Given the description of an element on the screen output the (x, y) to click on. 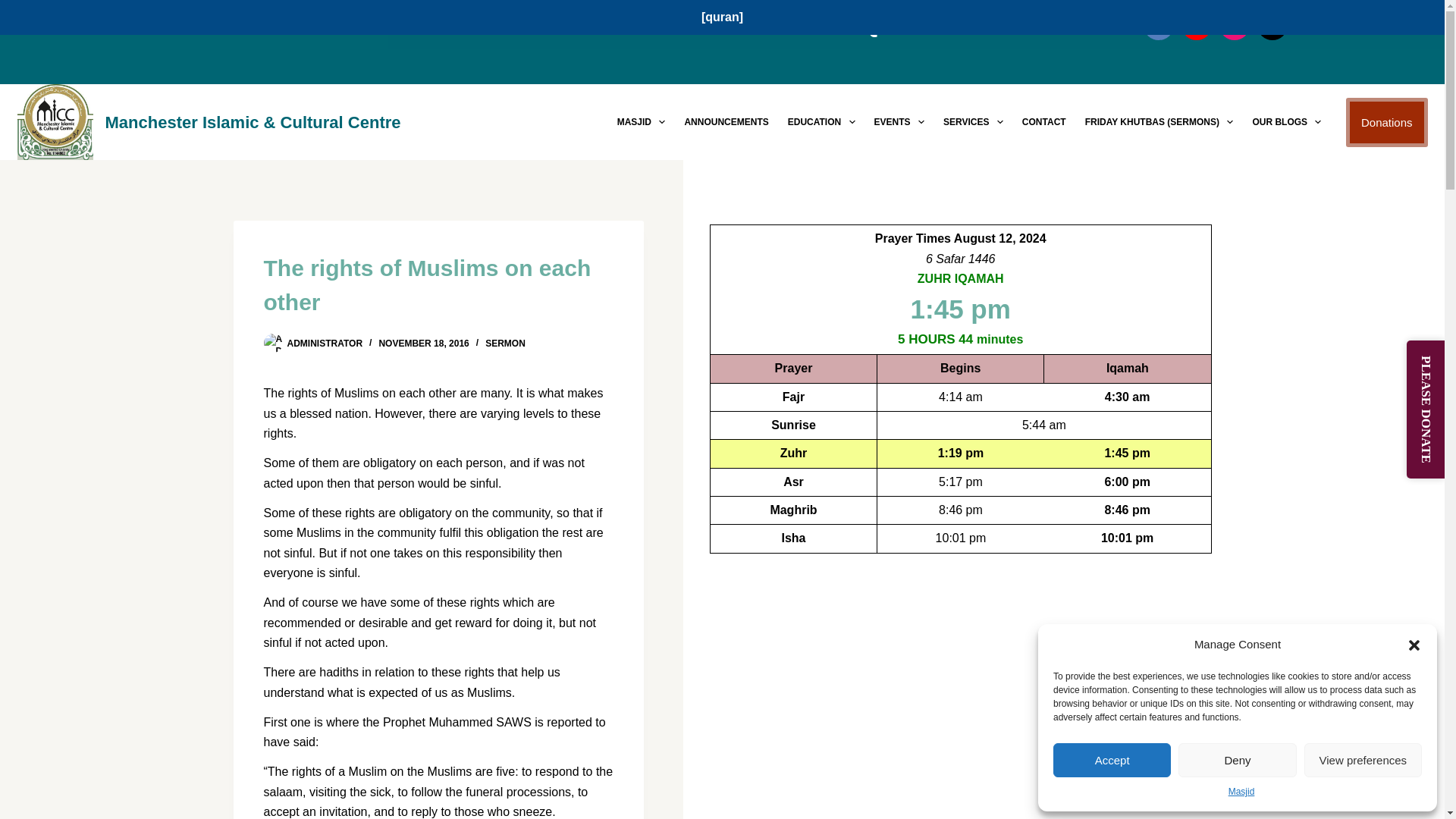
Deny (1236, 759)
The rights of Muslims on each other (438, 284)
View preferences (1363, 759)
Skip to content (15, 7)
Posts by Administrator (324, 343)
Masjid (1241, 792)
Accept (1111, 759)
